Given the description of an element on the screen output the (x, y) to click on. 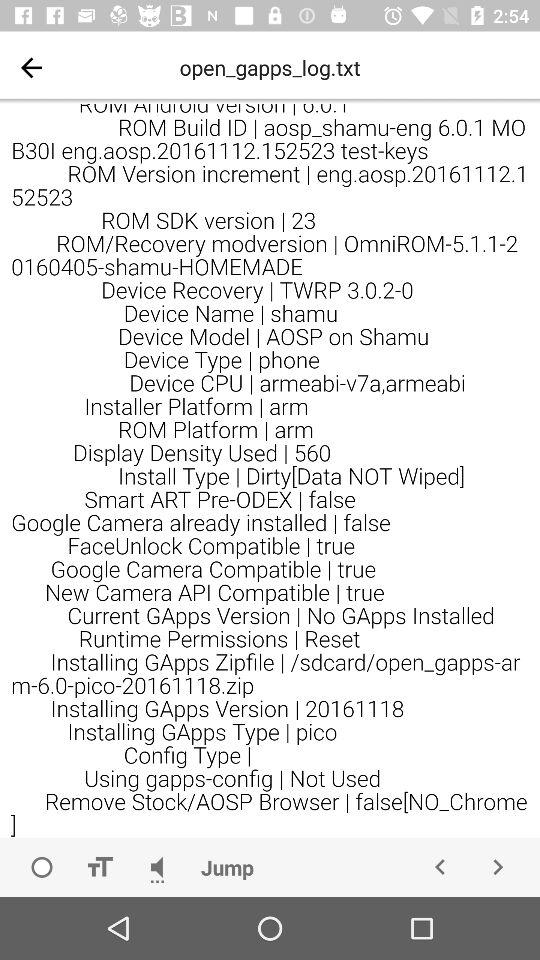
forward button (497, 867)
